Given the description of an element on the screen output the (x, y) to click on. 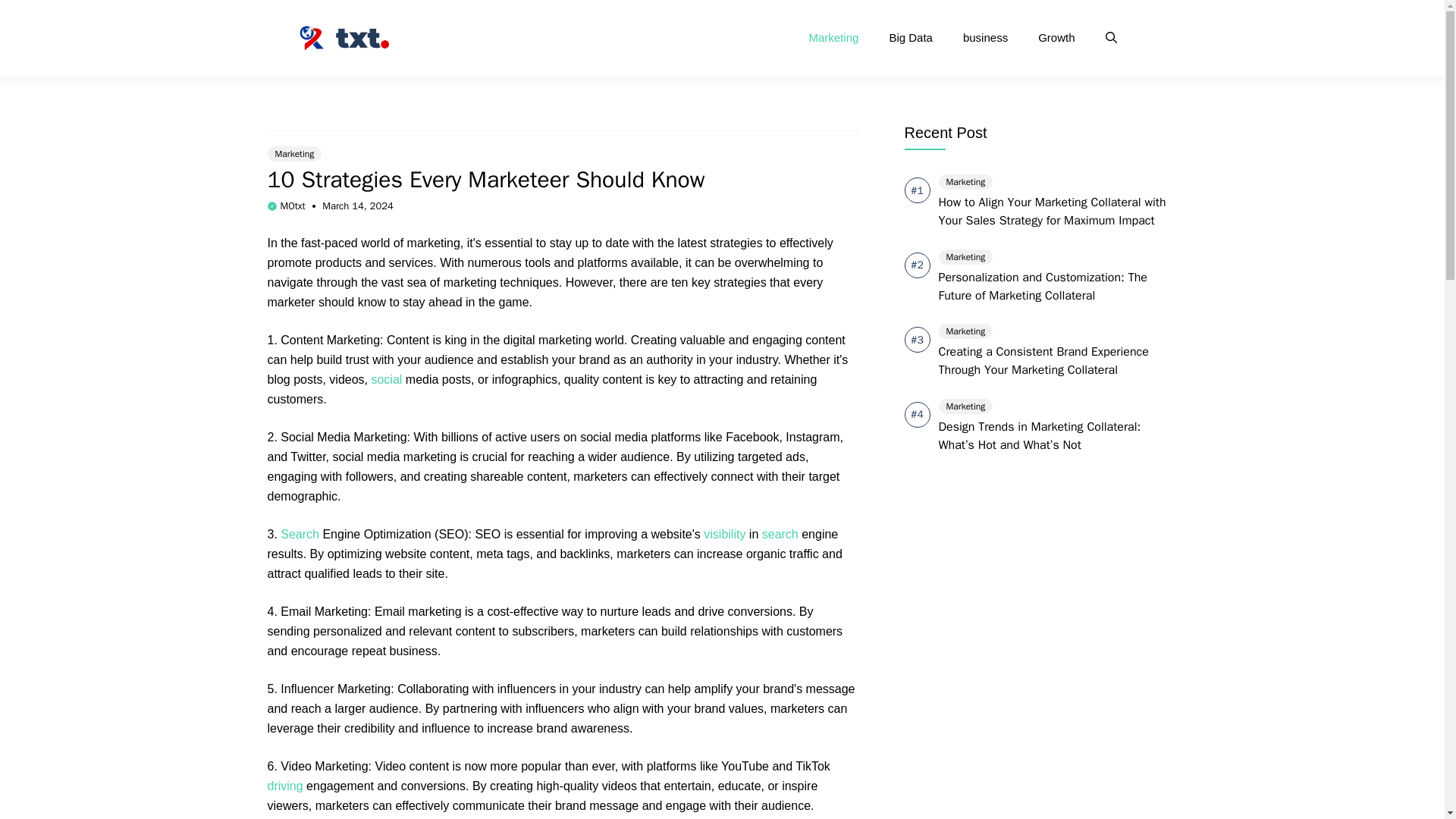
Posts tagged with Search (299, 533)
social (386, 379)
visibility (724, 533)
Marketing (294, 153)
Marketing (834, 37)
Posts tagged with Visibility (724, 533)
Posts tagged with Driving (284, 785)
search (779, 533)
business (985, 37)
Posts tagged with Social (386, 379)
